Given the description of an element on the screen output the (x, y) to click on. 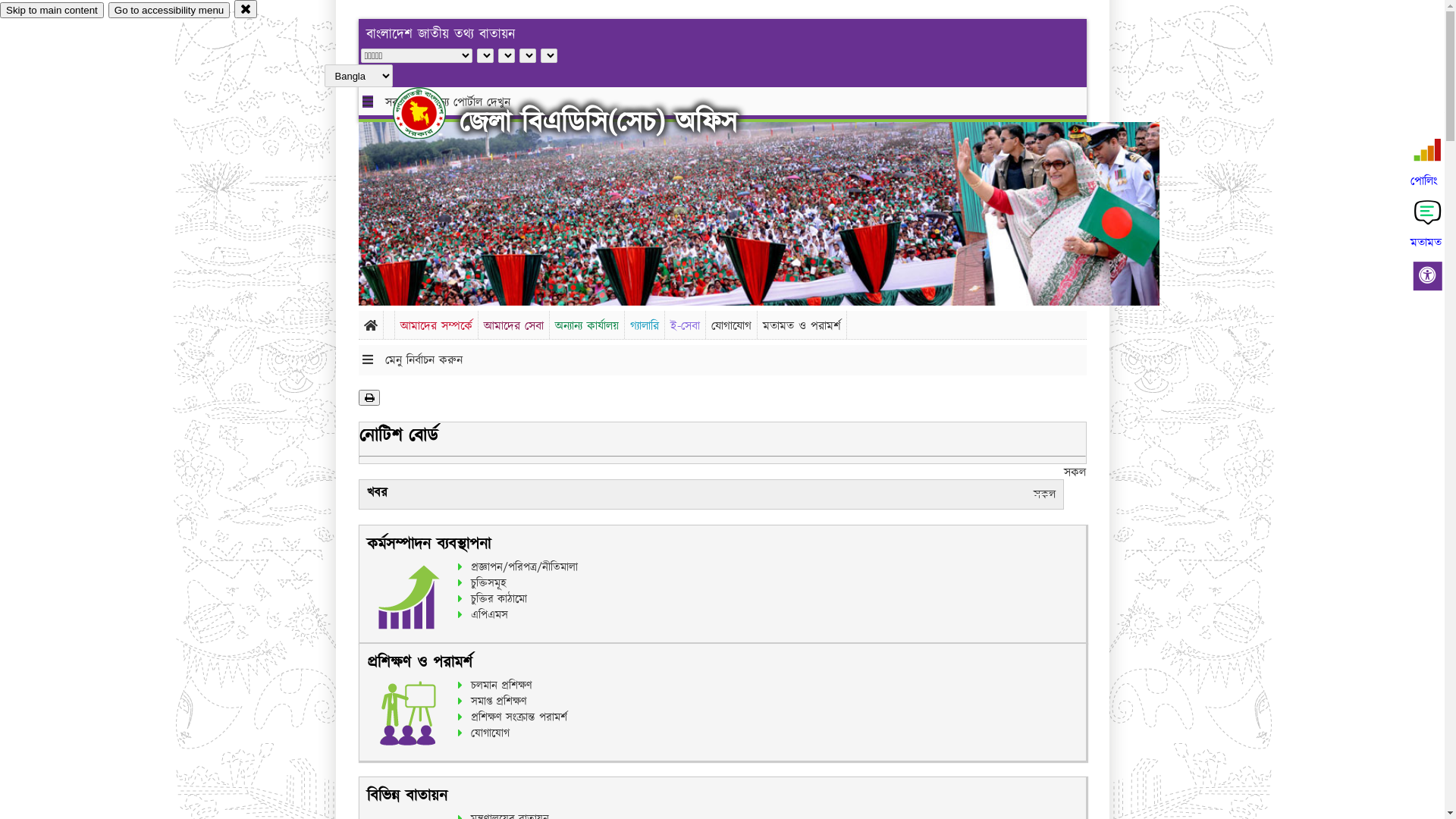
Go to accessibility menu Element type: text (168, 10)

                
             Element type: hover (431, 112)
close Element type: hover (245, 9)
Skip to main content Element type: text (51, 10)
